Given the description of an element on the screen output the (x, y) to click on. 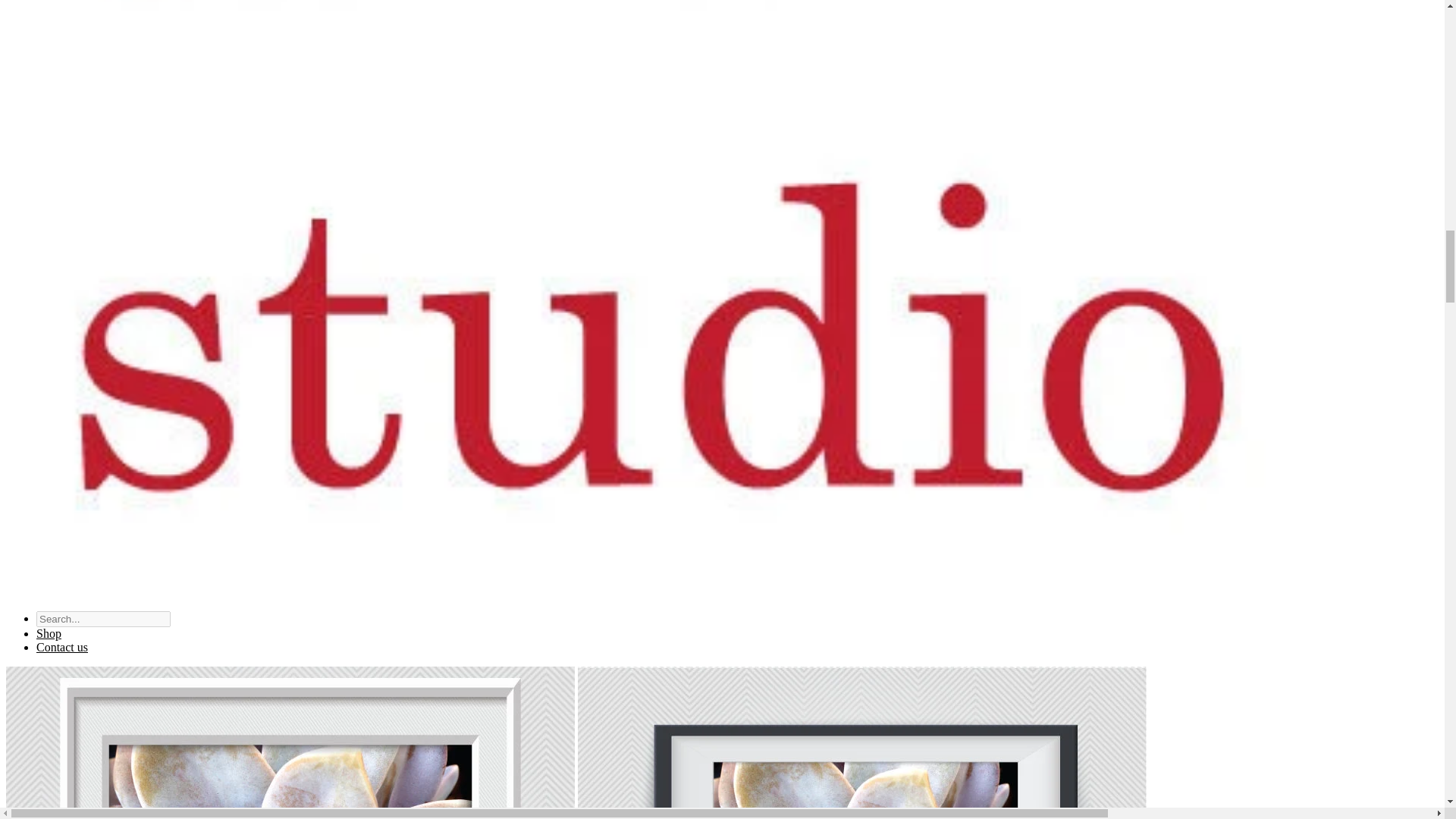
Contact us (61, 646)
Shop (48, 633)
